Given the description of an element on the screen output the (x, y) to click on. 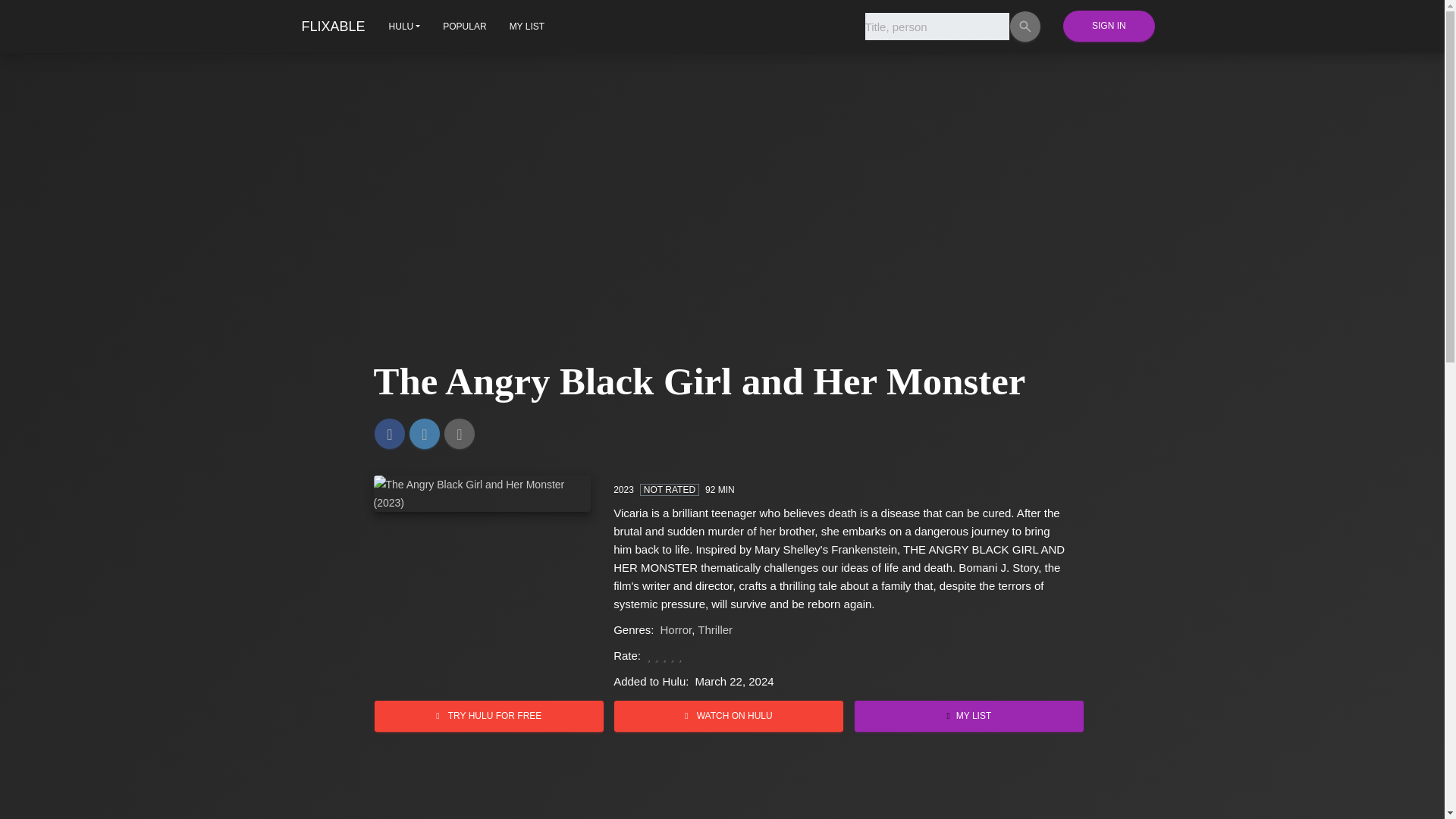
TRY HULU FOR FREE (489, 716)
HULU (404, 26)
Thriller (714, 629)
FLIXABLE (333, 26)
MY LIST (968, 716)
MY LIST (526, 26)
Horror (677, 629)
SIGN IN (1108, 25)
POPULAR (463, 26)
WATCH ON HULU (728, 716)
